Given the description of an element on the screen output the (x, y) to click on. 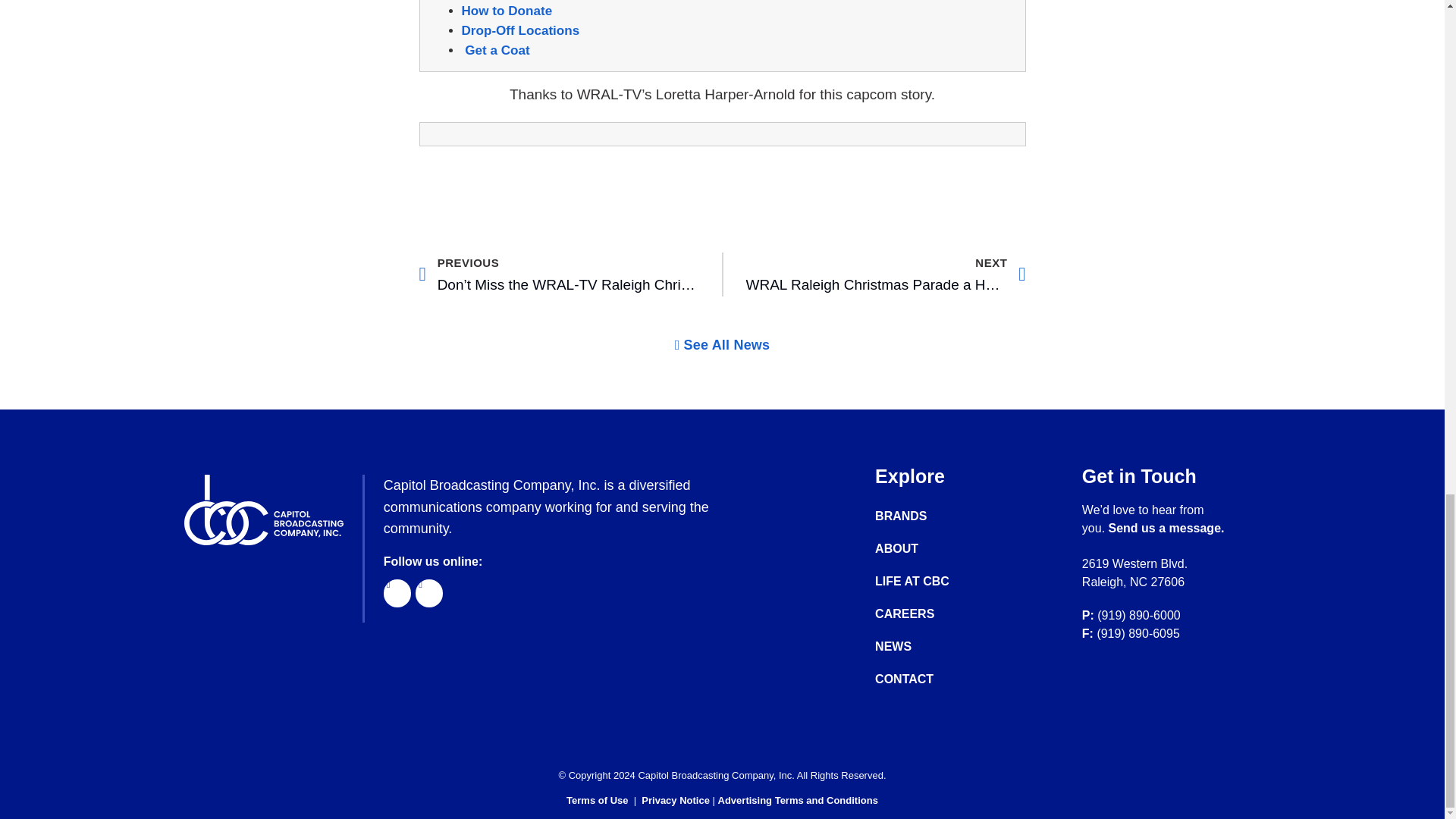
BRANDS (926, 516)
LIFE AT CBC (885, 274)
NEWS (926, 581)
Drop-Off Locations (926, 646)
See All News (520, 30)
CAREERS (722, 345)
Get a Coat (926, 613)
CONTACT (496, 50)
How to Donate (926, 679)
